Given the description of an element on the screen output the (x, y) to click on. 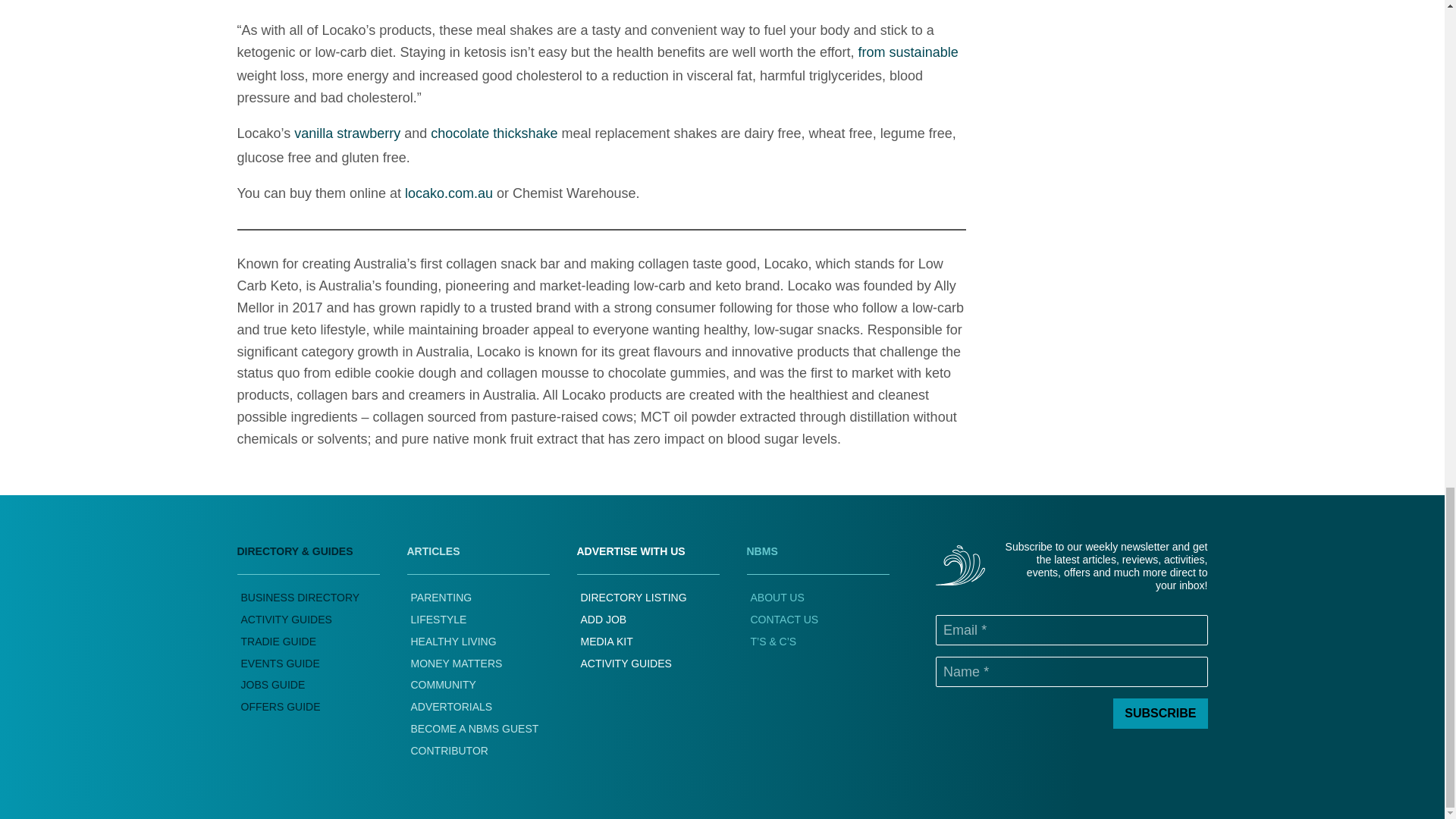
Subscribe (1160, 713)
